Given the description of an element on the screen output the (x, y) to click on. 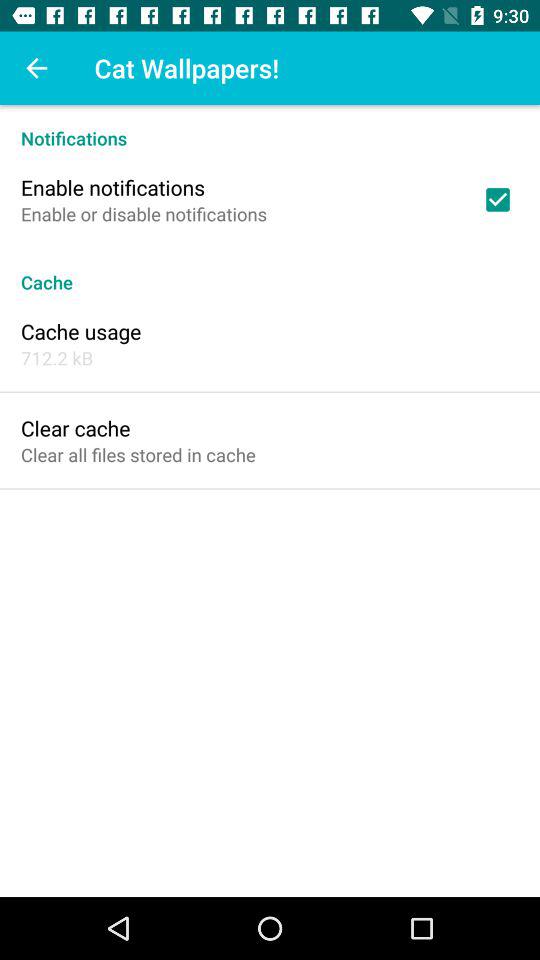
select the item below the cache usage icon (57, 357)
